Given the description of an element on the screen output the (x, y) to click on. 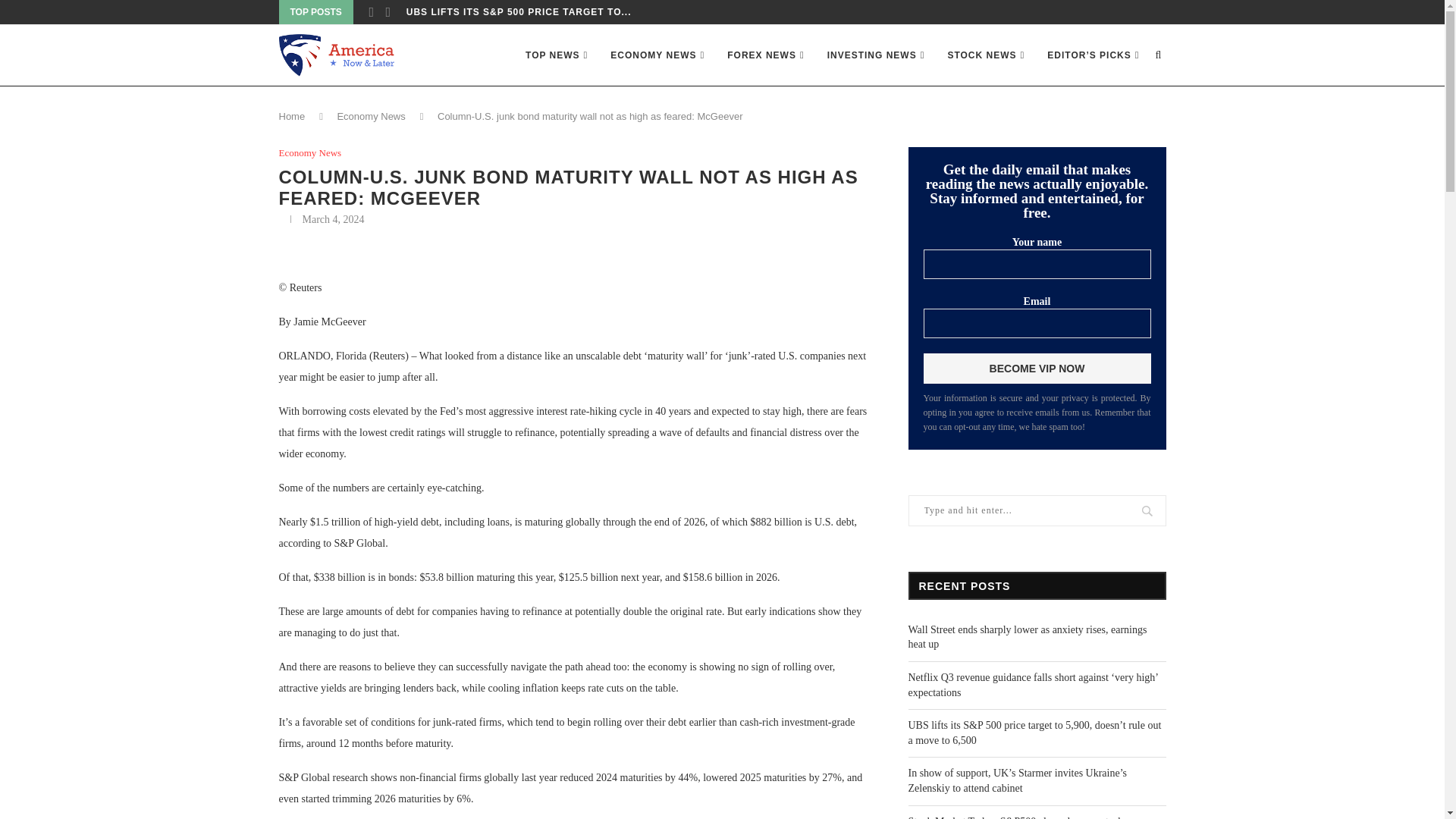
Become VIP Now (1037, 368)
